Given the description of an element on the screen output the (x, y) to click on. 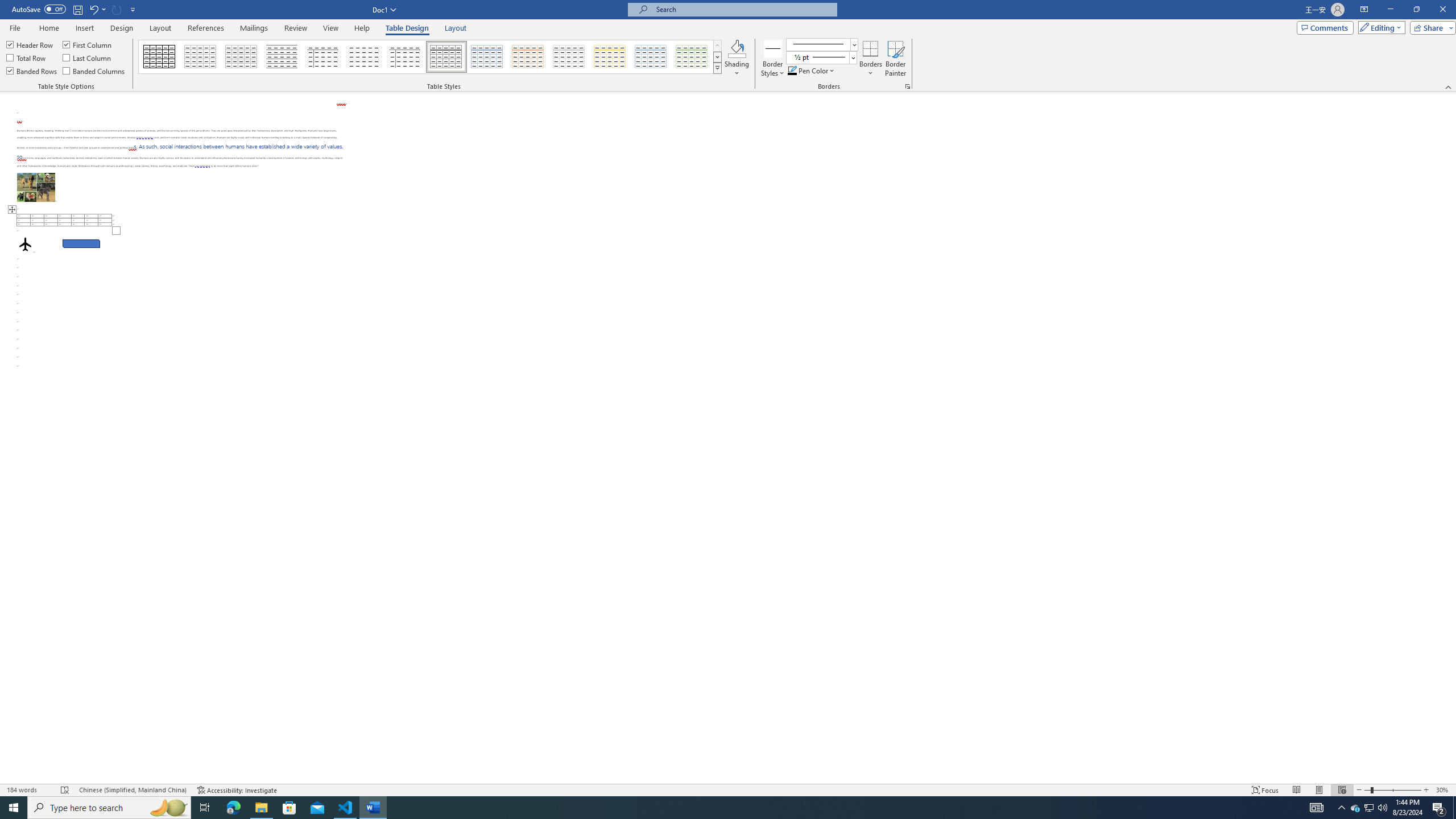
Row up (717, 45)
Total Row (26, 56)
Save (77, 9)
Borders and Shading... (907, 85)
Border Styles (773, 58)
AutoSave (38, 9)
Zoom Out (1367, 790)
Close (1442, 9)
Grid Table 1 Light - Accent 6 (691, 56)
Shading (737, 58)
System (6, 6)
Airplane with solid fill (25, 243)
Spelling and Grammar Check Errors (65, 790)
Grid Table 1 Light - Accent 4 (609, 56)
